Given the description of an element on the screen output the (x, y) to click on. 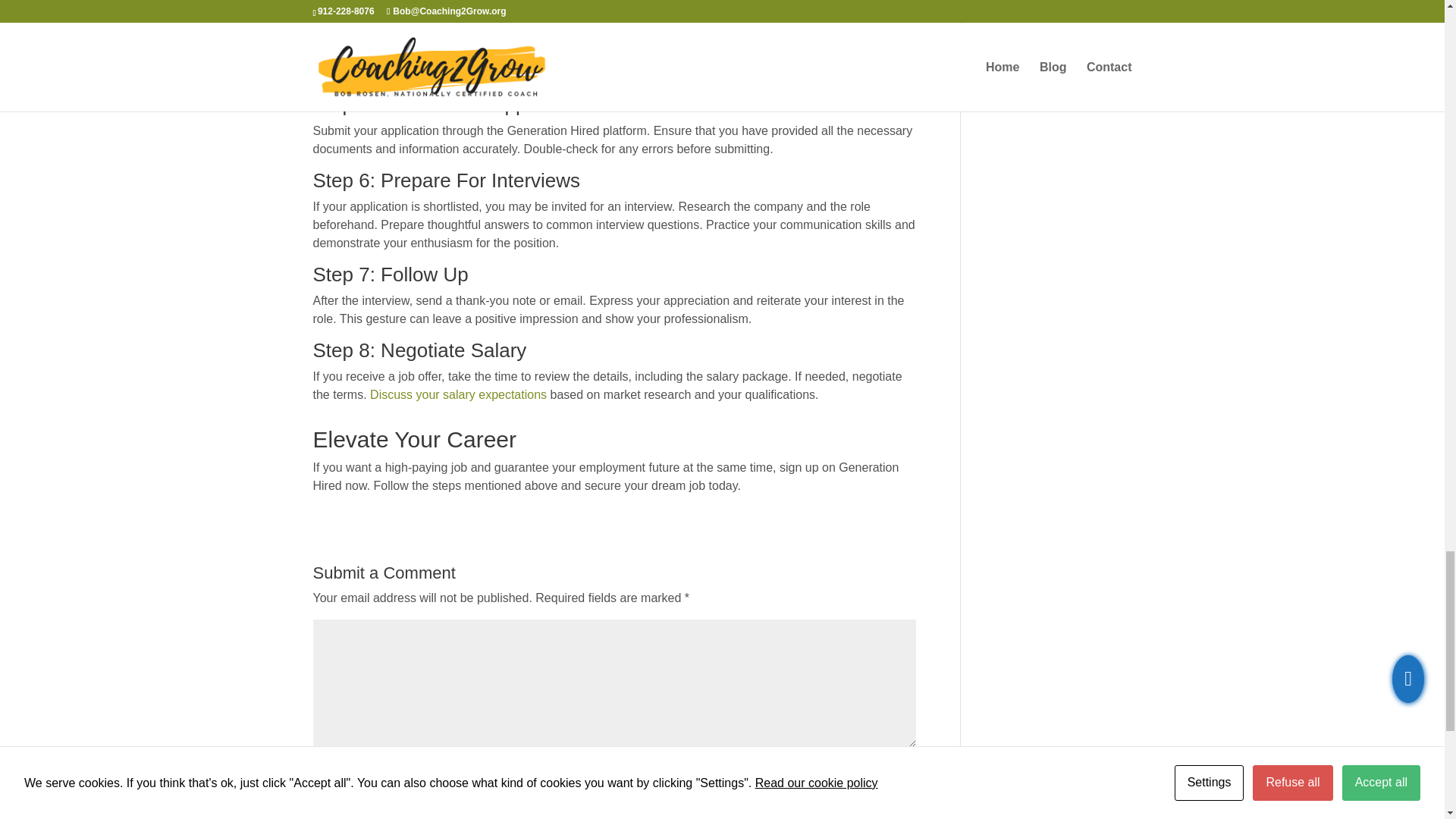
Discuss your salary expectations (458, 394)
